Given the description of an element on the screen output the (x, y) to click on. 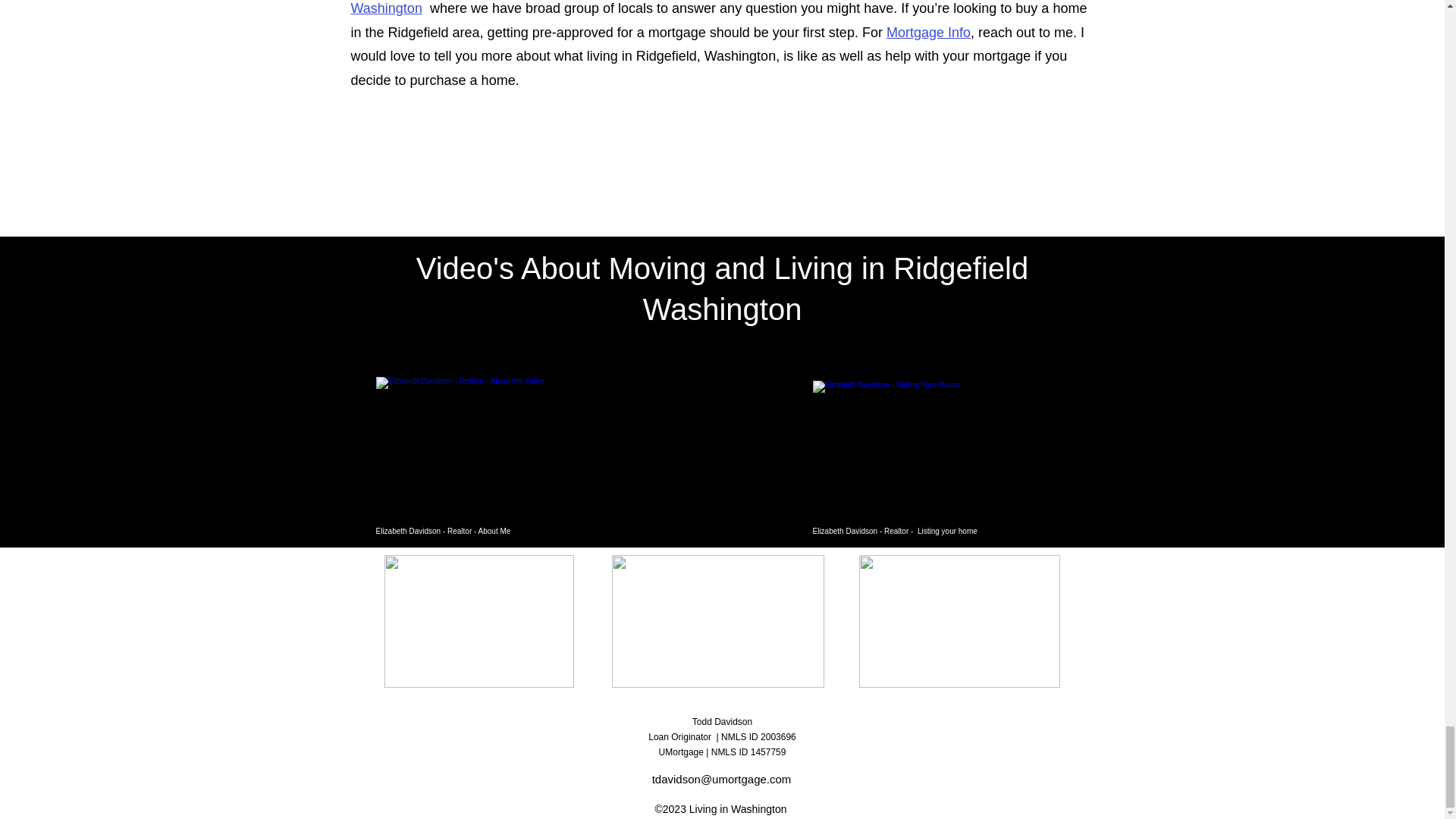
FREE HOMEBUYERS GUIDE.jpg (717, 621)
Mortgage FAQs.jpg (959, 621)
Listing Alert Pic.jpg (478, 621)
